Given the description of an element on the screen output the (x, y) to click on. 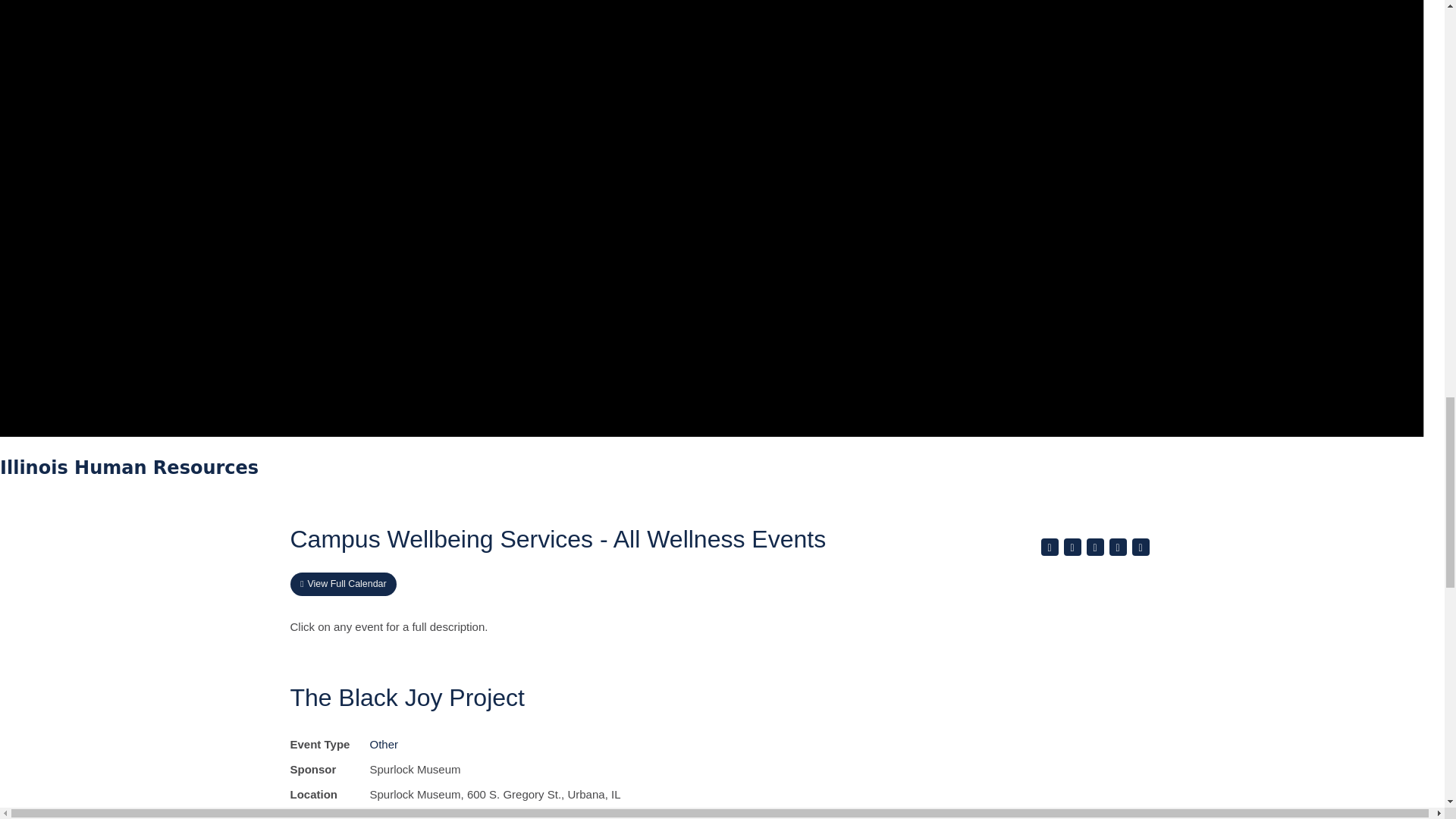
add to calendar (1116, 547)
View Full Calendar (342, 584)
The Black Joy Project (406, 697)
Twitter (1071, 547)
Other (383, 744)
contact (1139, 547)
Facebook (1049, 547)
Email (1094, 547)
